Given the description of an element on the screen output the (x, y) to click on. 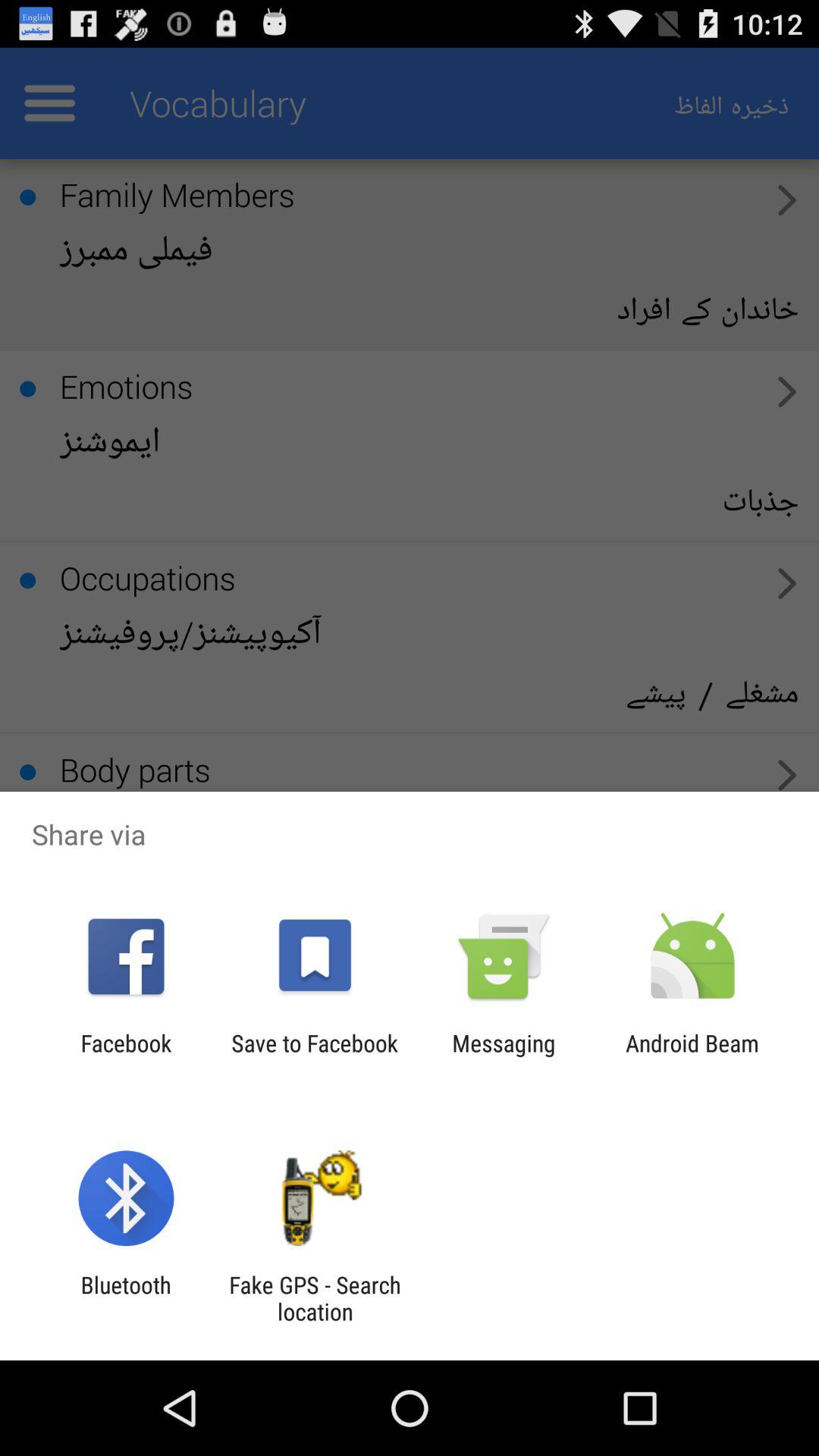
turn off app next to the fake gps search item (125, 1298)
